Given the description of an element on the screen output the (x, y) to click on. 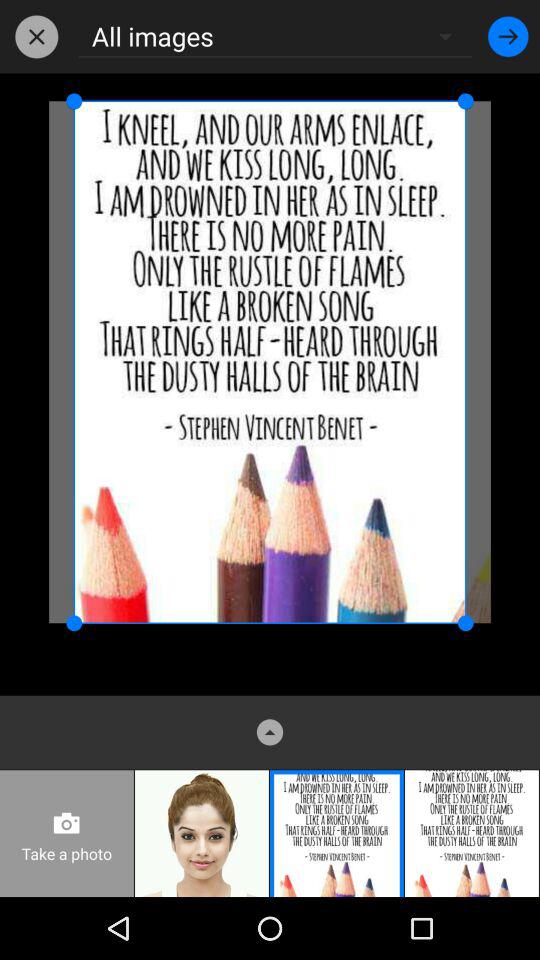
open the icon to the right of the all images item (508, 36)
